Given the description of an element on the screen output the (x, y) to click on. 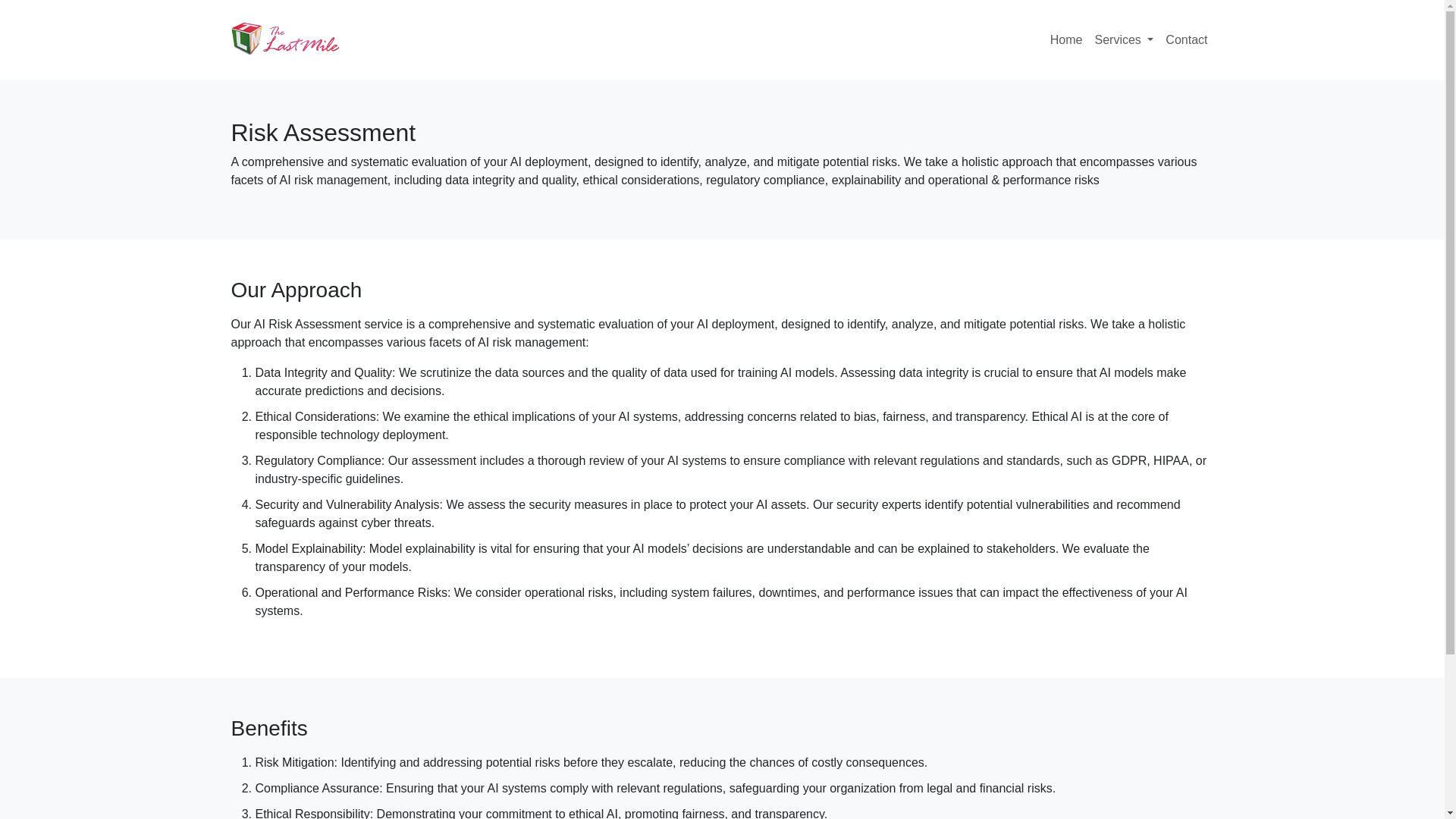
Contact (1185, 40)
Services (1122, 40)
Home (1066, 40)
Lastmile (283, 39)
Home (1066, 40)
Services (1122, 40)
Contact (1185, 40)
